Given the description of an element on the screen output the (x, y) to click on. 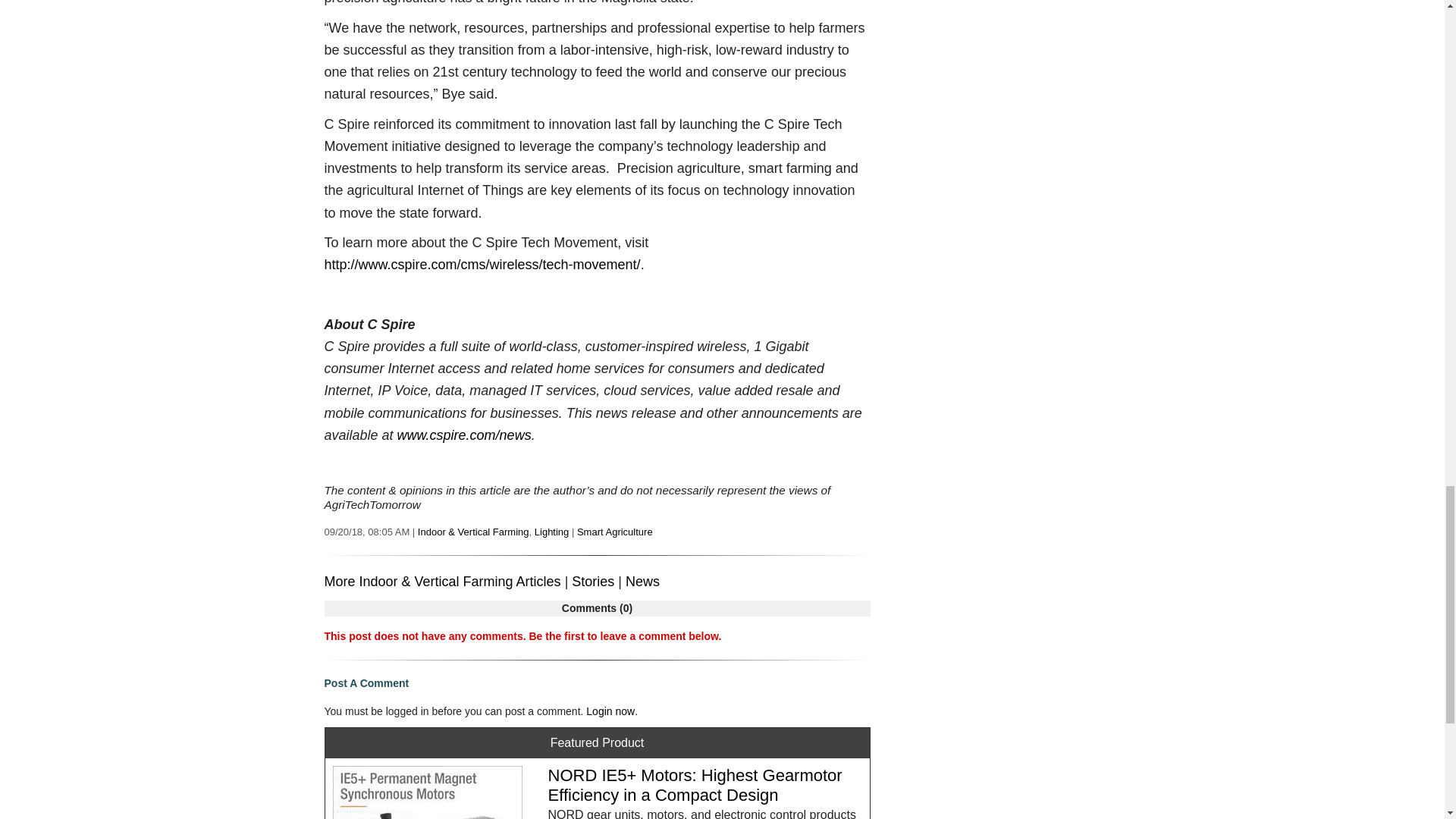
Login now (610, 711)
Lighting (551, 531)
News (642, 581)
Smart Agriculture (614, 531)
Stories (593, 581)
